Given the description of an element on the screen output the (x, y) to click on. 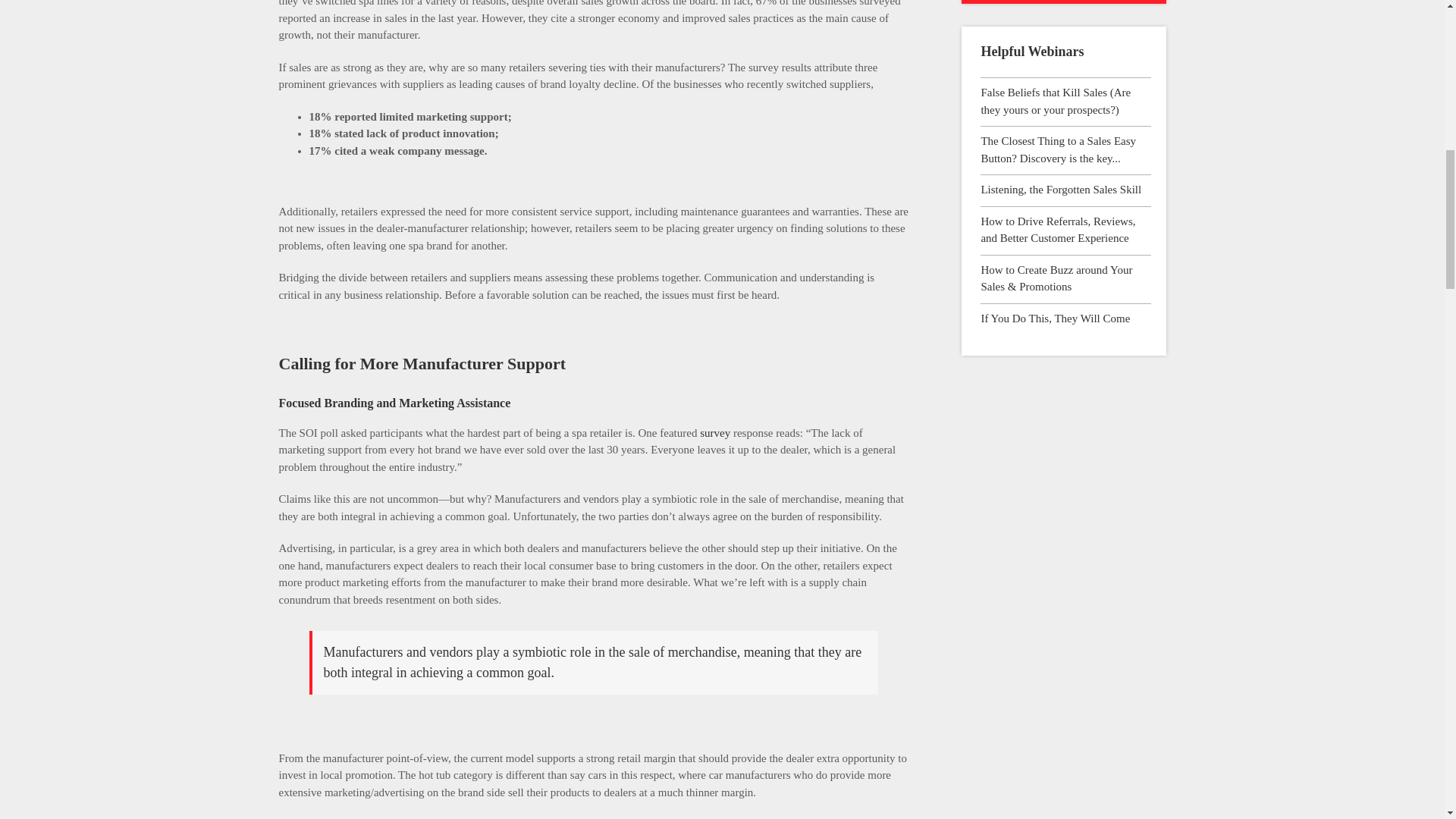
survey (715, 432)
